Given the description of an element on the screen output the (x, y) to click on. 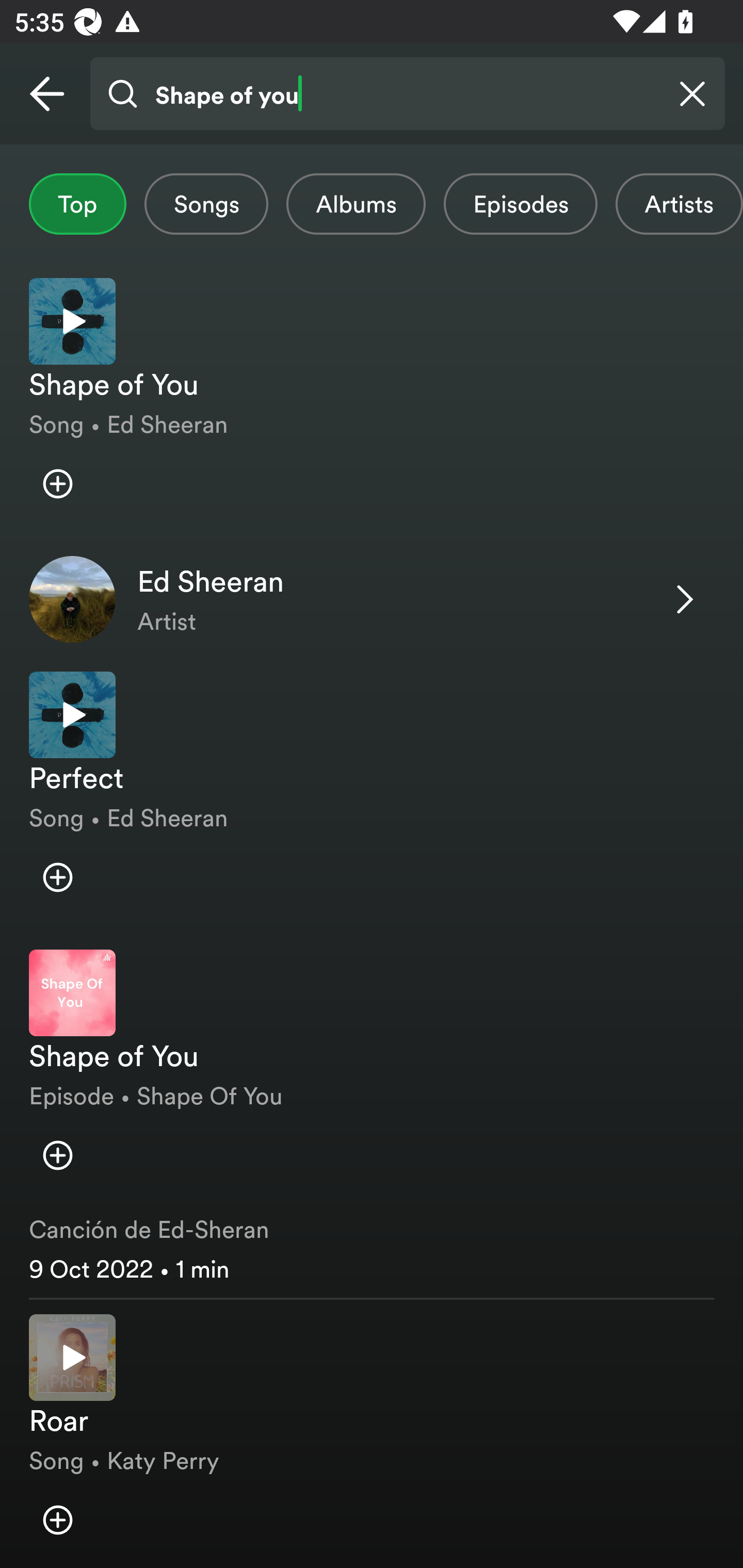
Back (46, 93)
Shape of you Search (407, 94)
Clear Search (692, 94)
Top (77, 203)
Songs (206, 203)
Albums (355, 203)
Episodes (520, 203)
Artists (679, 203)
Play preview (71, 321)
Add item (57, 483)
Ed Sheeran Artist (371, 598)
Play preview Perfect Song • Ed Sheeran Add item (371, 795)
Play preview (71, 714)
Add item (57, 877)
Add item (57, 1154)
Play preview Roar Song • Katy Perry Add item (371, 1433)
Play preview (71, 1356)
Add item (57, 1520)
